Given the description of an element on the screen output the (x, y) to click on. 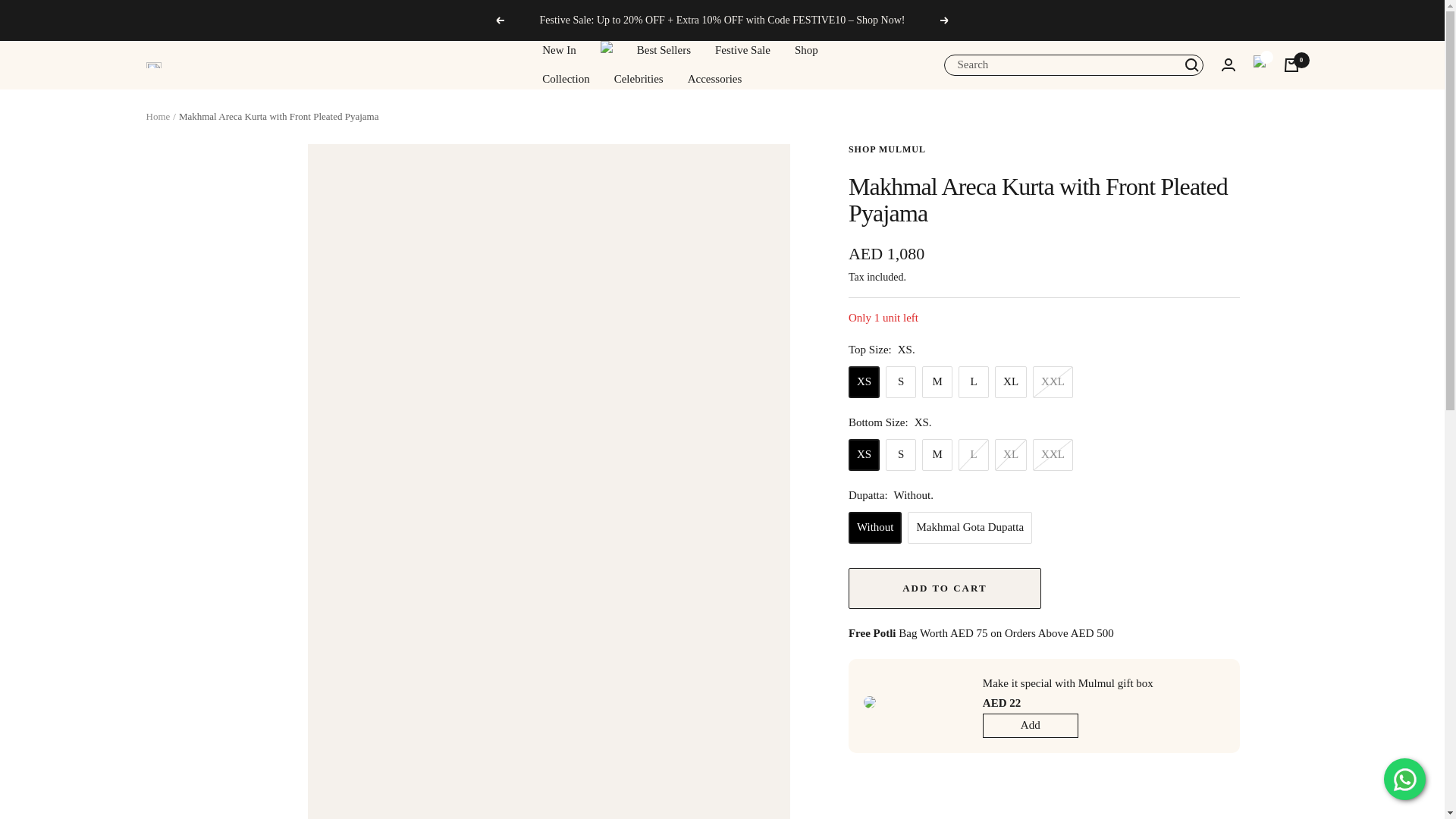
Accessories (714, 79)
Home (157, 116)
Next (944, 20)
